Given the description of an element on the screen output the (x, y) to click on. 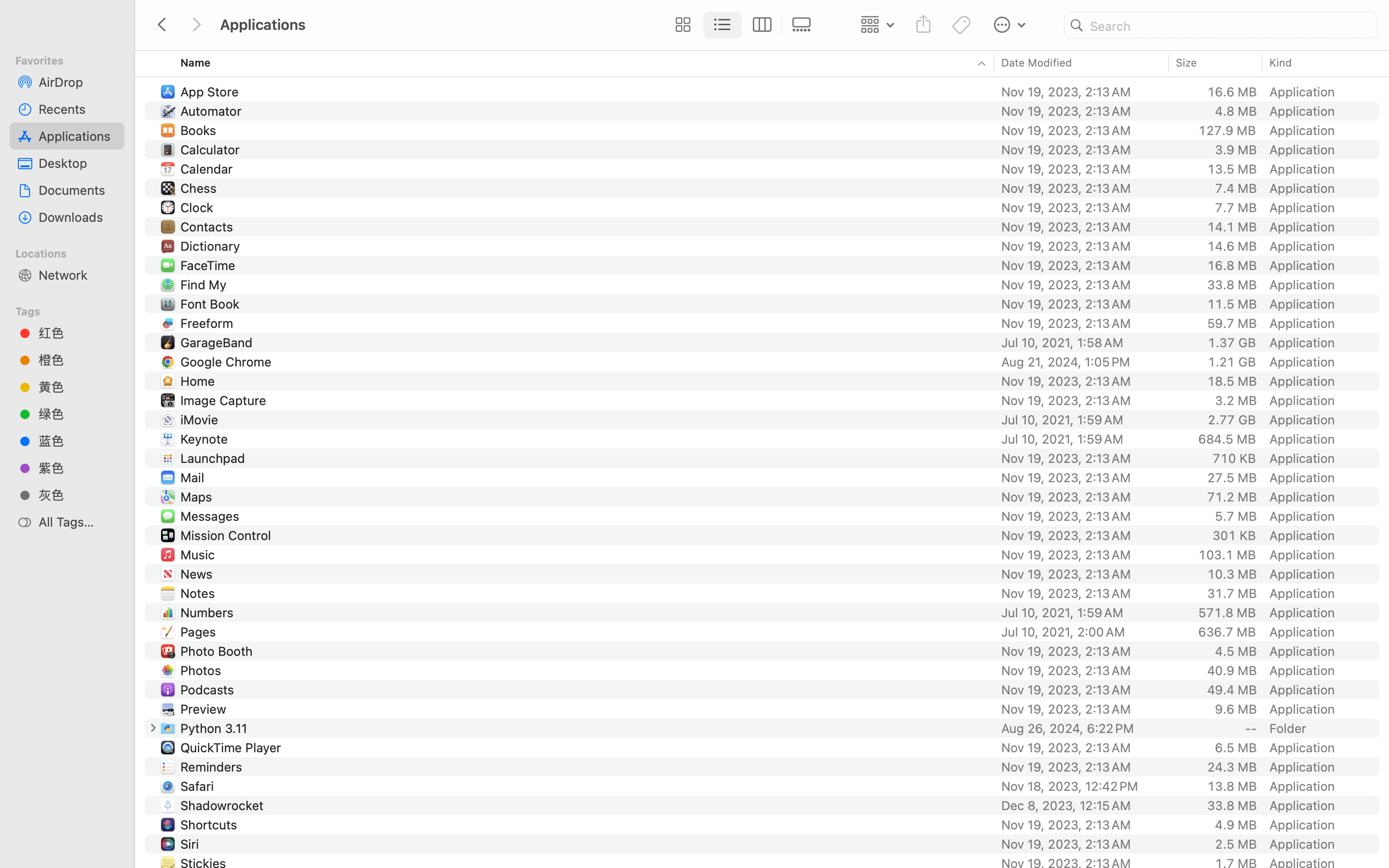
3.9 MB Element type: AXStaticText (1235, 149)
Size Element type: AXStaticText (1186, 62)
Launchpad Element type: AXTextField (214, 457)
14.1 MB Element type: AXStaticText (1231, 226)
Books Element type: AXTextField (200, 129)
